Given the description of an element on the screen output the (x, y) to click on. 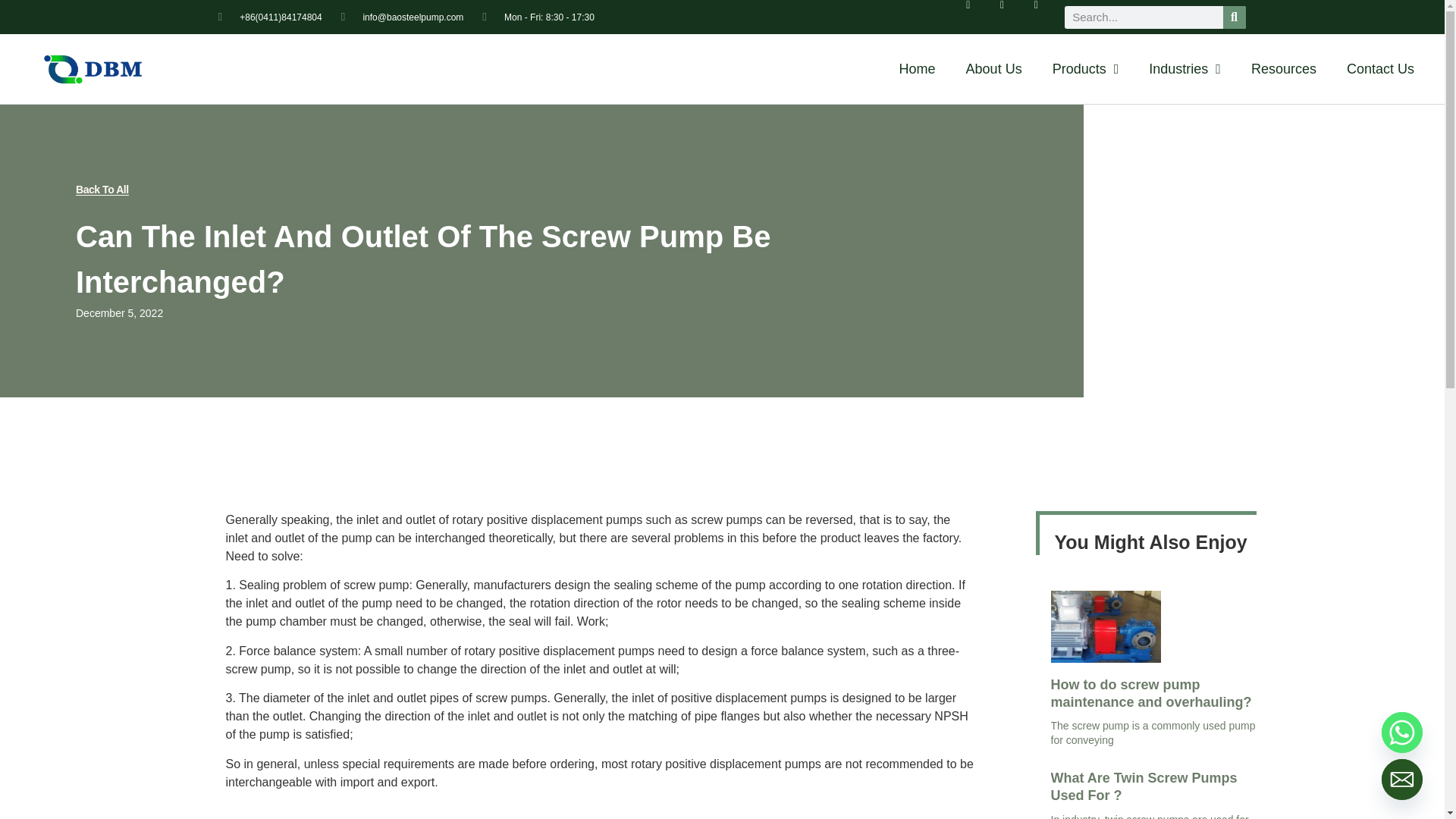
Industries (1185, 69)
Home (916, 69)
About Us (993, 69)
Products (1085, 69)
